Given the description of an element on the screen output the (x, y) to click on. 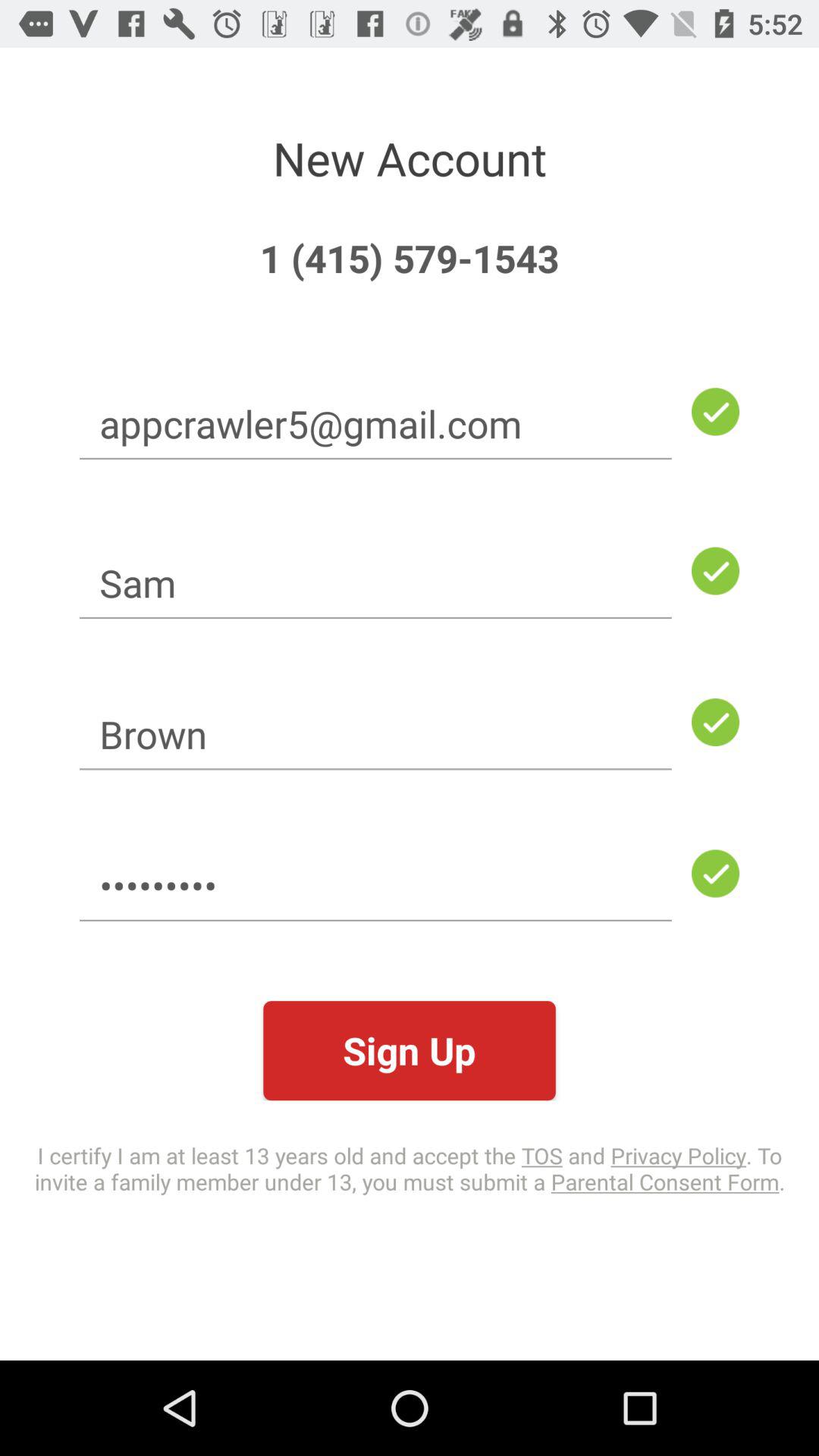
click the sign up icon (409, 1050)
